Given the description of an element on the screen output the (x, y) to click on. 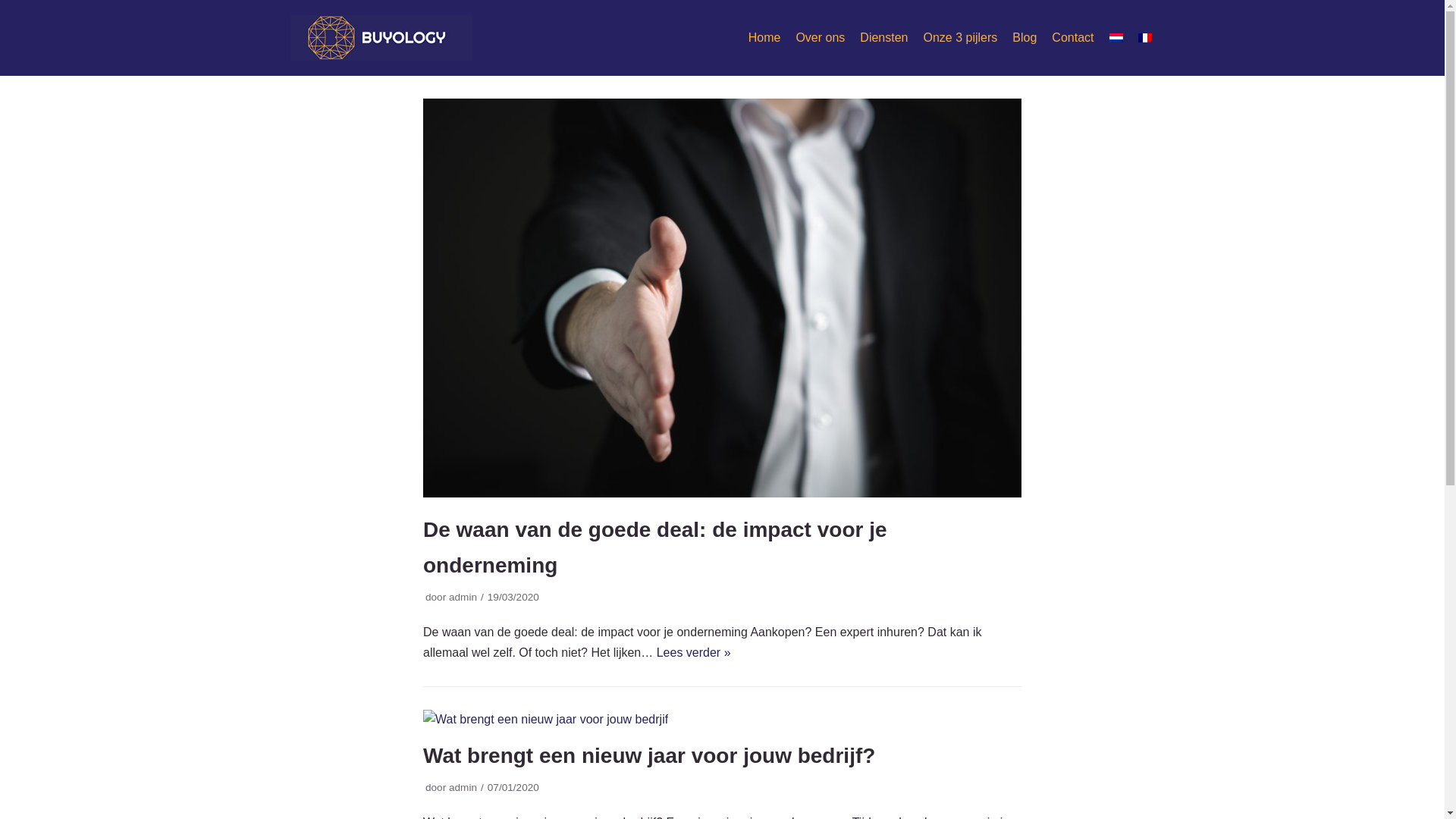
admin Element type: text (462, 596)
Contact Element type: text (1072, 37)
Onze 3 pijlers Element type: text (960, 37)
Buyology - The science of buying Element type: hover (380, 37)
Wat brengt een nieuw jaar voor jouw bedrijf? Element type: hover (545, 718)
Blog Element type: text (1024, 37)
Diensten Element type: text (883, 37)
Home Element type: text (764, 37)
De waan van de goede deal: de impact voor je onderneming Element type: hover (722, 492)
De waan van de goede deal: de impact voor je onderneming Element type: text (655, 547)
admin Element type: text (462, 787)
Wat brengt een nieuw jaar voor jouw bedrijf? Element type: text (649, 755)
Over ons Element type: text (819, 37)
Meteen naar de inhoud Element type: text (15, 7)
